Given the description of an element on the screen output the (x, y) to click on. 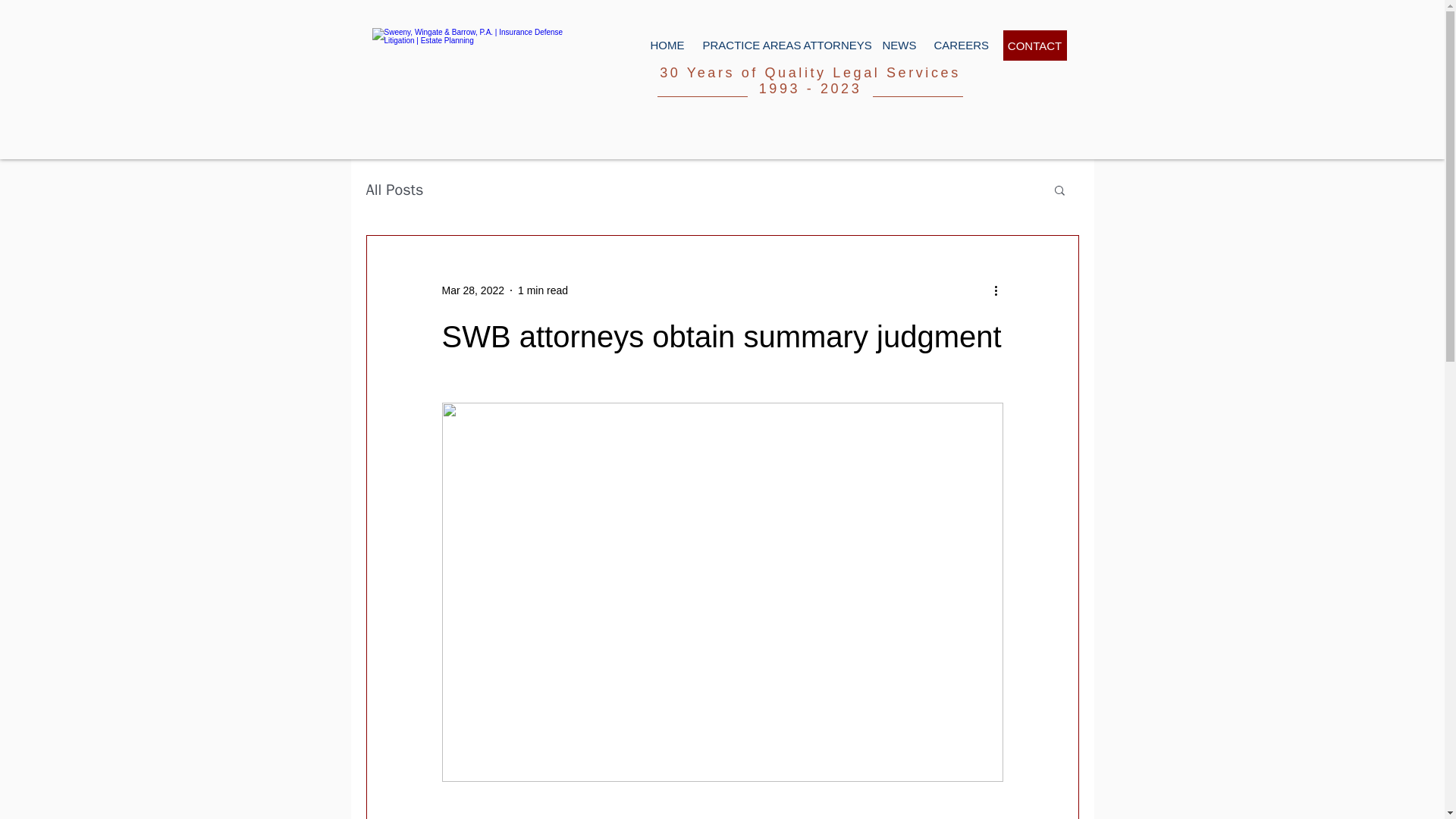
1 min read (542, 289)
PRACTICE AREAS (741, 45)
ATTORNEYS (831, 45)
Mar 28, 2022 (472, 289)
CONTACT (1034, 45)
NEWS (895, 45)
All Posts (394, 189)
CAREERS (954, 45)
HOME (664, 45)
